Given the description of an element on the screen output the (x, y) to click on. 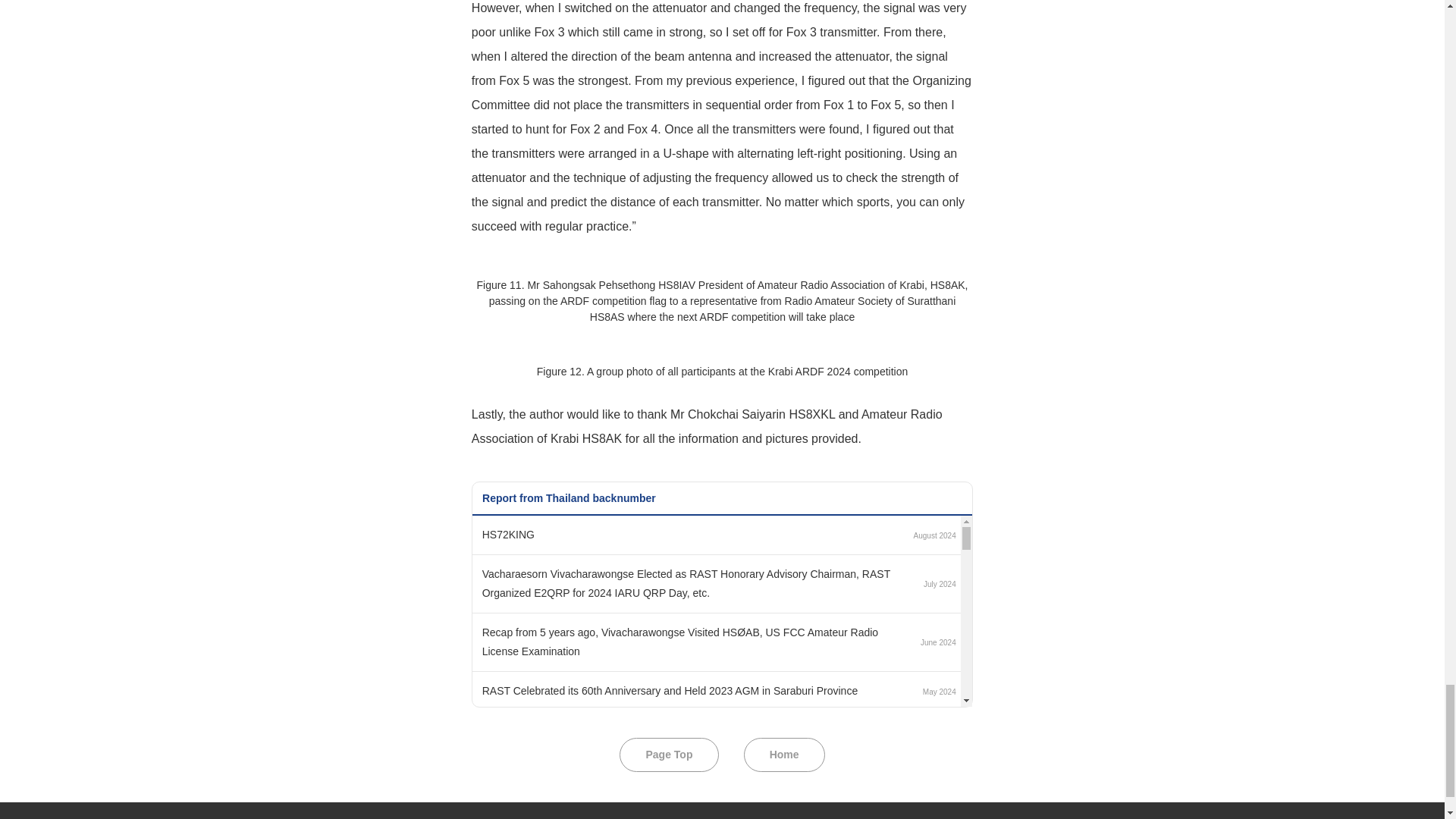
December YOTA Month in Thailand (564, 808)
HS72KING (507, 534)
